Given the description of an element on the screen output the (x, y) to click on. 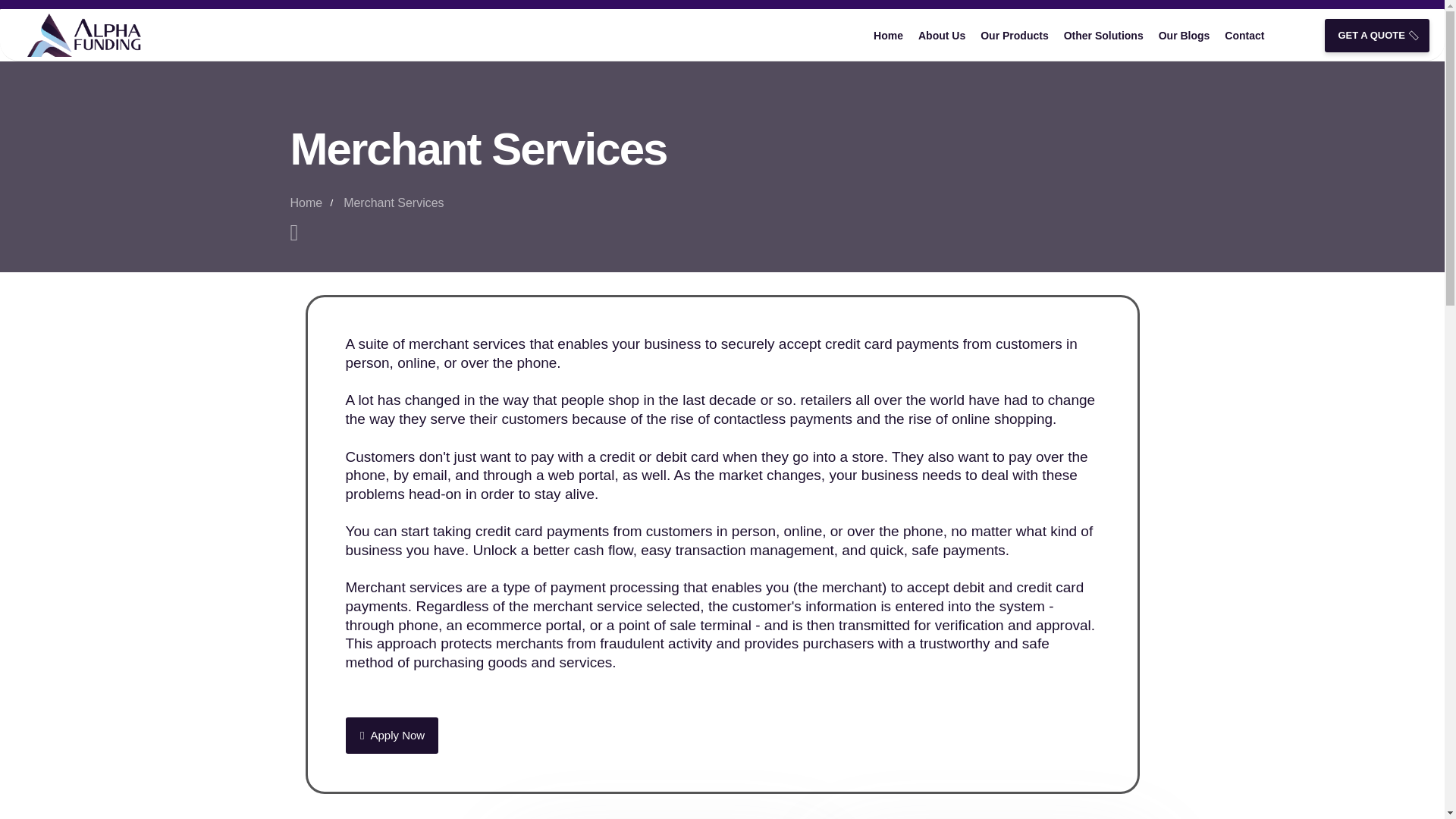
Our Blogs (1184, 34)
GET A QUOTE (1376, 35)
Contact (1244, 34)
About Us (941, 34)
Other Solutions (1104, 34)
Our Products (1013, 34)
